Given the description of an element on the screen output the (x, y) to click on. 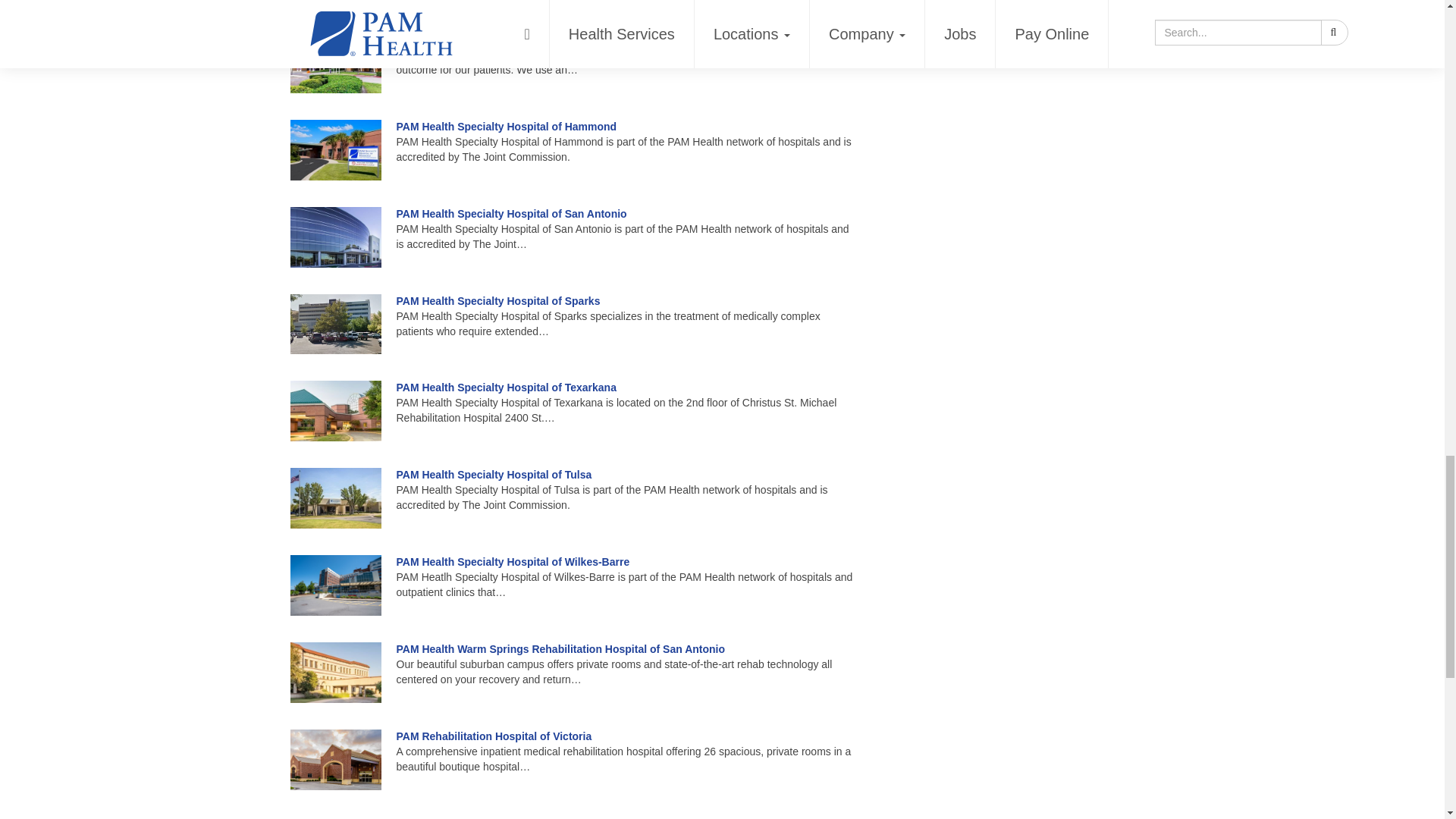
PAM Health Specialty Hospital of Texarkana (505, 387)
PAM Health Specialty Hospital of Hammond (505, 126)
PAM Health Specialty Hospital of San Antonio (511, 214)
PAM Health Specialty Hospital of Tulsa (493, 474)
PAM Health Specialty Hospital of Sparks (497, 300)
PAM Health Specialty Hospital of Corpus Christi North (532, 39)
